Given the description of an element on the screen output the (x, y) to click on. 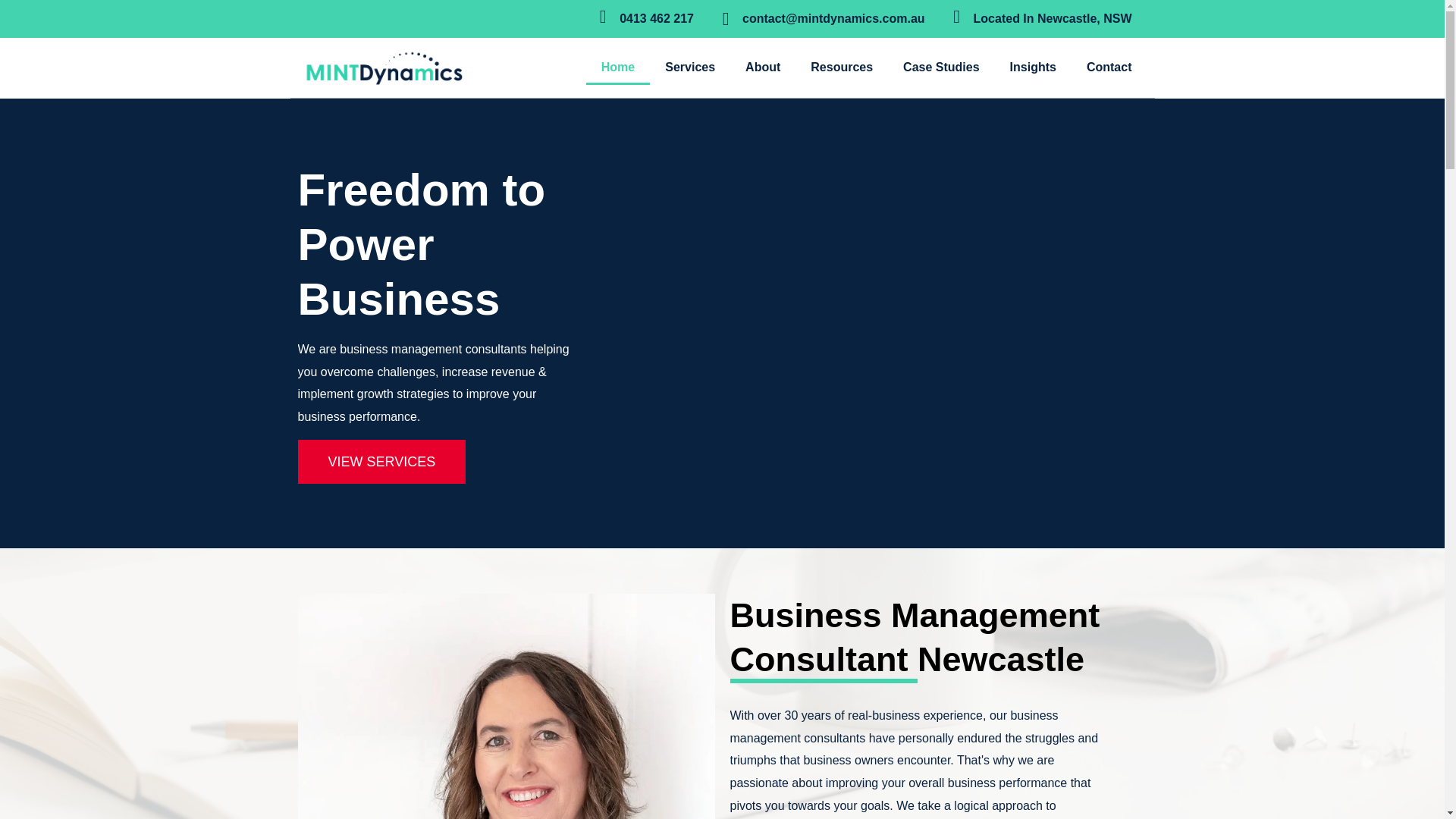
About (762, 67)
Insights (1032, 67)
Resources (841, 67)
Home (617, 67)
Services (689, 67)
Case Studies (941, 67)
VIEW SERVICES (381, 461)
Contact (1109, 67)
